Given the description of an element on the screen output the (x, y) to click on. 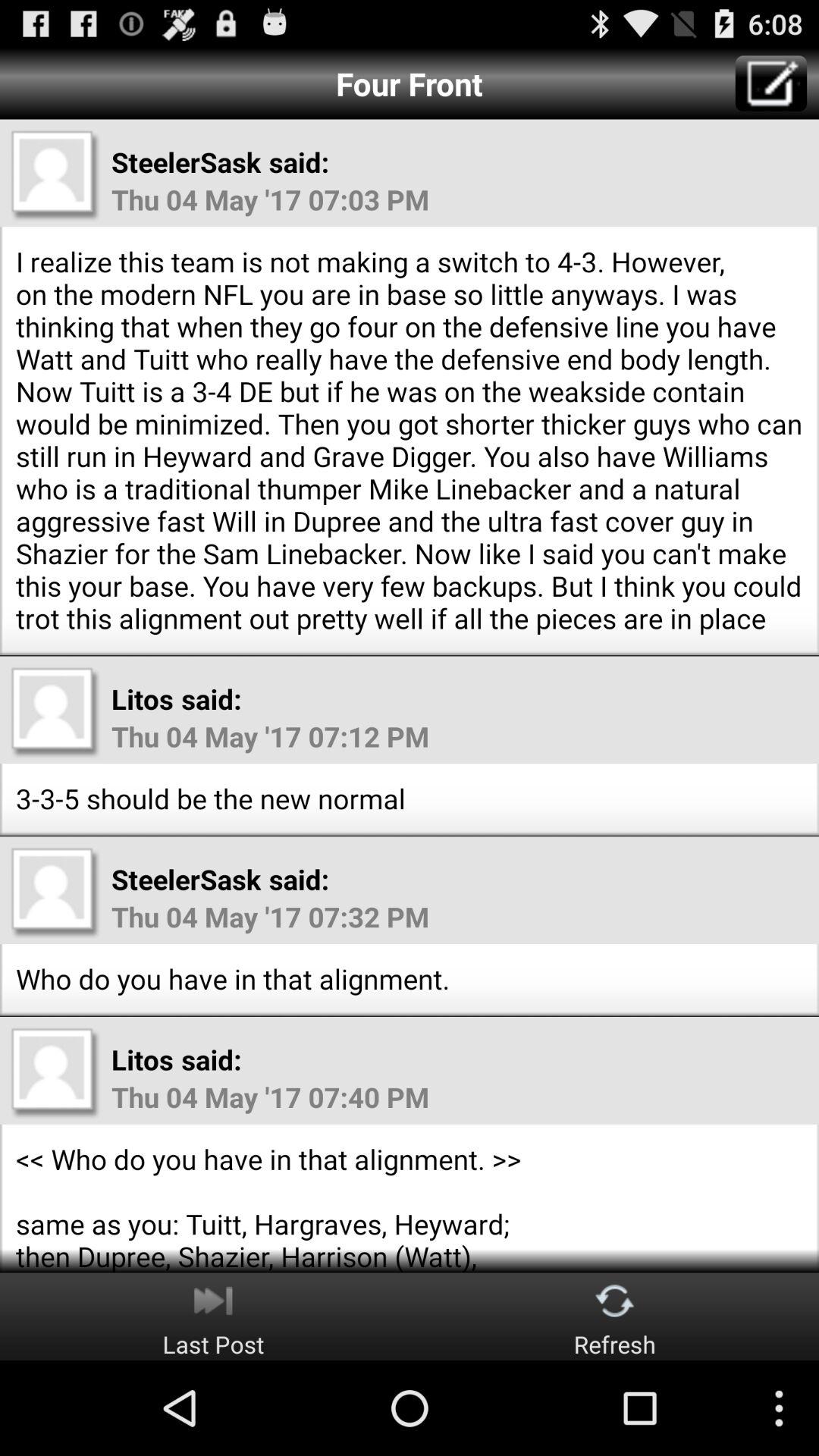
turn on icon below the who do you icon (615, 1316)
